Given the description of an element on the screen output the (x, y) to click on. 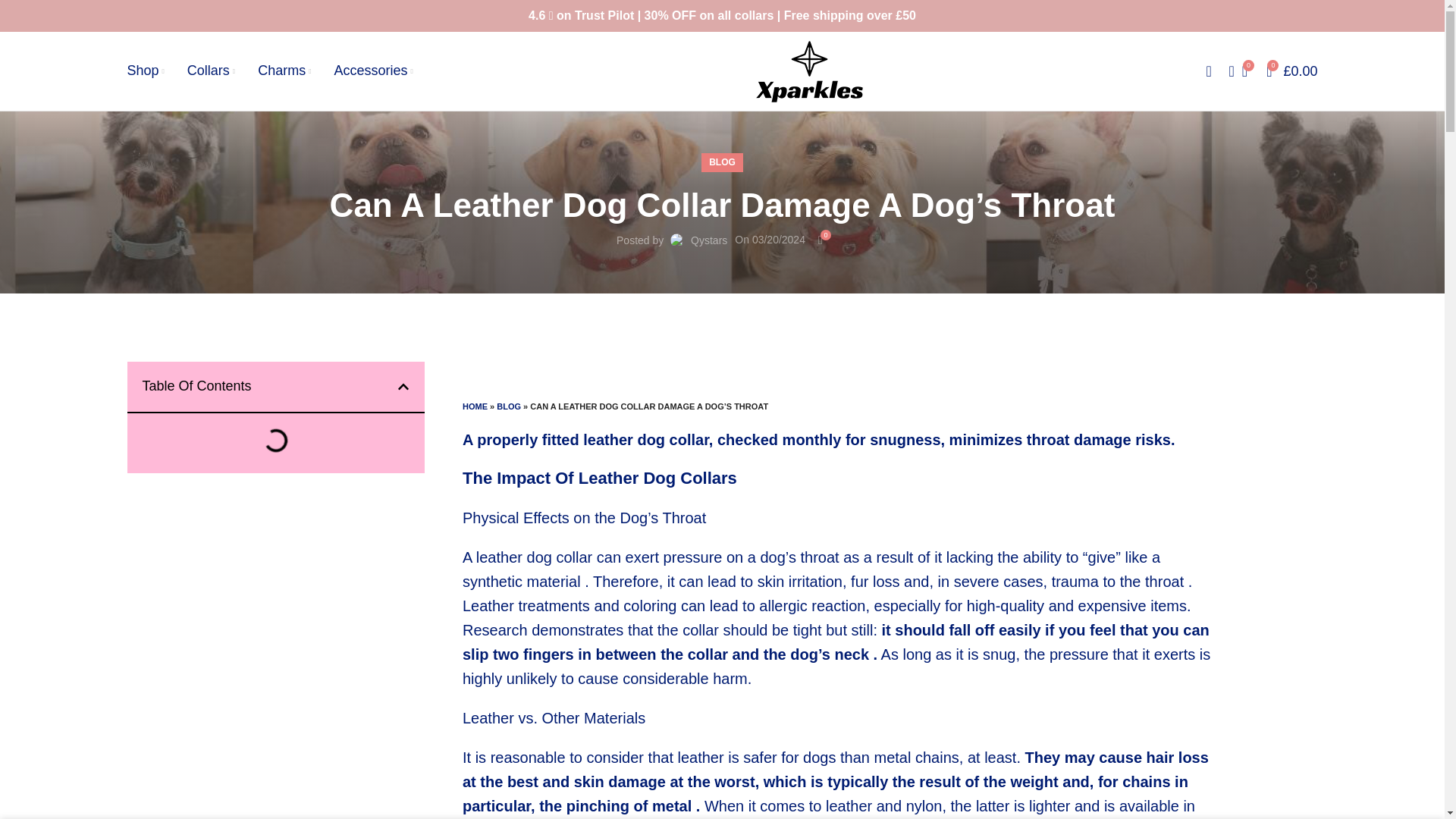
HOME (475, 406)
Accessories (372, 71)
Qystars (708, 240)
Collars (210, 71)
BLOG (508, 406)
Log in (1085, 319)
0 (820, 240)
Shop (146, 71)
Shopping cart (1291, 71)
BLOG (722, 162)
